Given the description of an element on the screen output the (x, y) to click on. 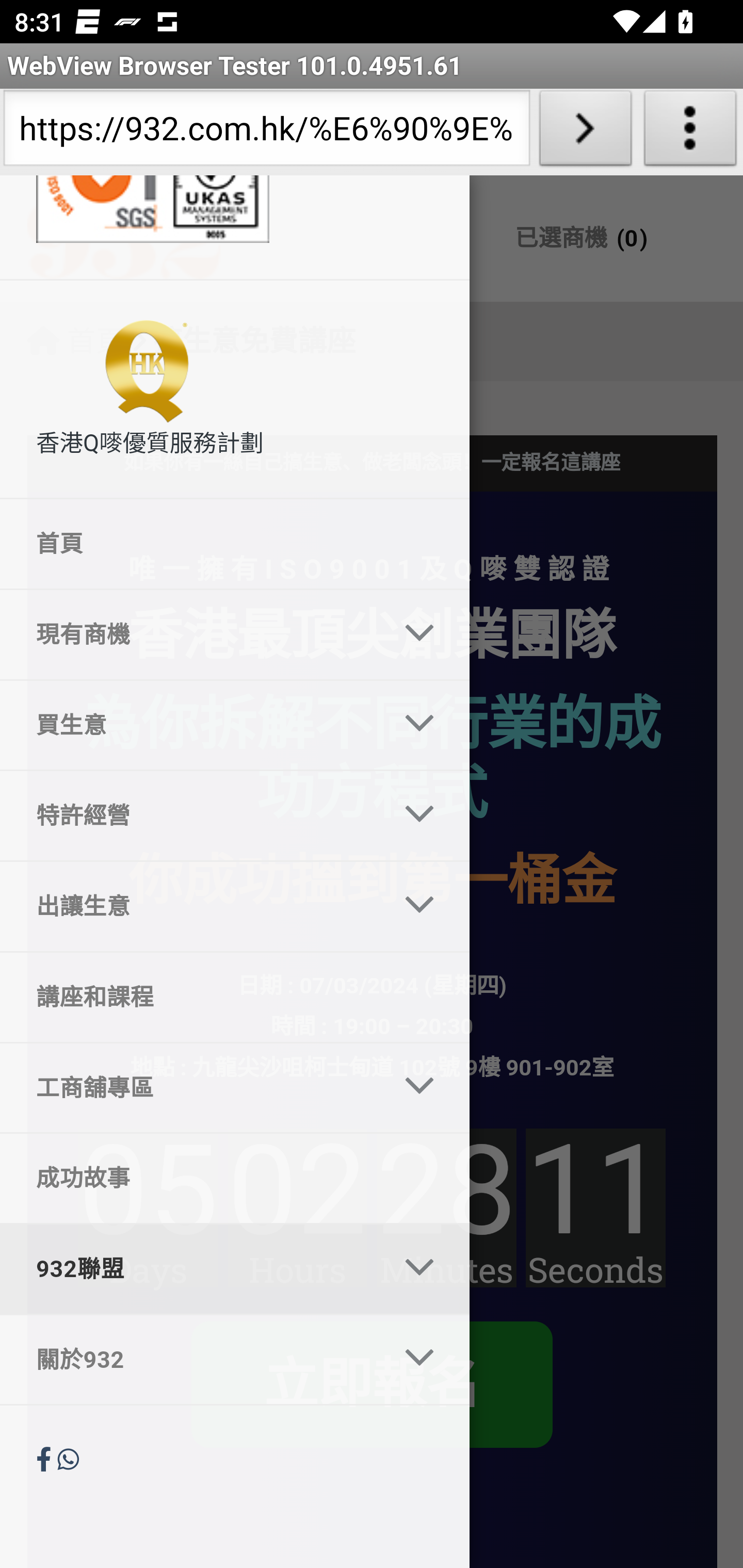
Load URL (585, 132)
About WebView (690, 132)
首頁 (234, 544)
現有商機 (190, 634)
Toggle (420, 633)
買生意 (190, 725)
Toggle (420, 725)
特許經營 (190, 815)
Toggle (420, 815)
出讓生意 (190, 905)
Toggle (420, 906)
講座和課程 (234, 996)
工商舖專區 (190, 1087)
Toggle (420, 1087)
成功故事 (234, 1178)
932聯盟 (190, 1268)
Toggle (420, 1270)
關於932 (190, 1358)
Toggle (420, 1359)
 (46, 1459)
 (67, 1459)
